Given the description of an element on the screen output the (x, y) to click on. 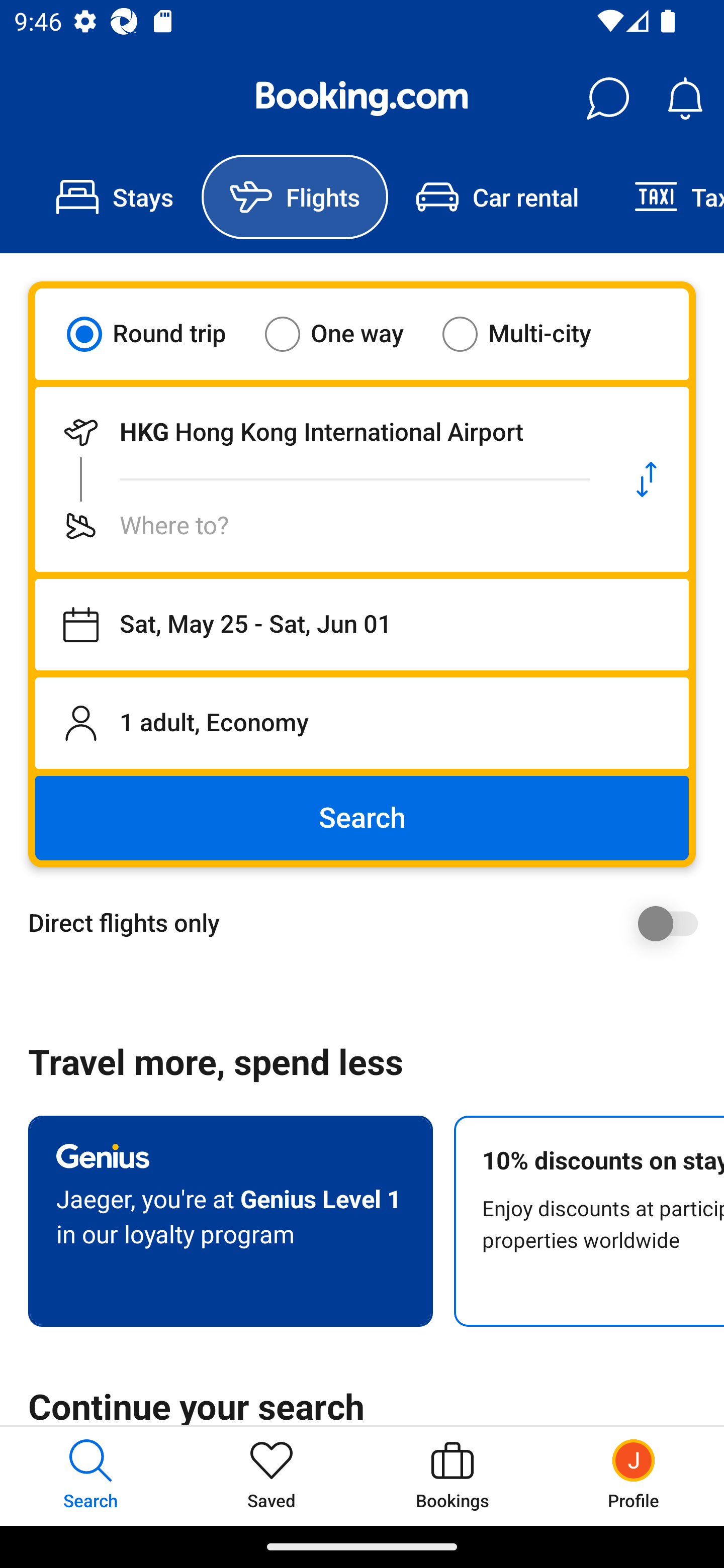
Messages (607, 98)
Notifications (685, 98)
Stays (114, 197)
Flights (294, 197)
Car rental (497, 197)
Taxi (665, 197)
One way (346, 333)
Multi-city (528, 333)
Departing from HKG Hong Kong International Airport (319, 432)
Swap departure location and destination (646, 479)
Flying to  (319, 525)
Departing on Sat, May 25, returning on Sat, Jun 01 (361, 624)
1 adult, Economy (361, 722)
Search (361, 818)
Direct flights only (369, 923)
Saved (271, 1475)
Bookings (452, 1475)
Profile (633, 1475)
